Given the description of an element on the screen output the (x, y) to click on. 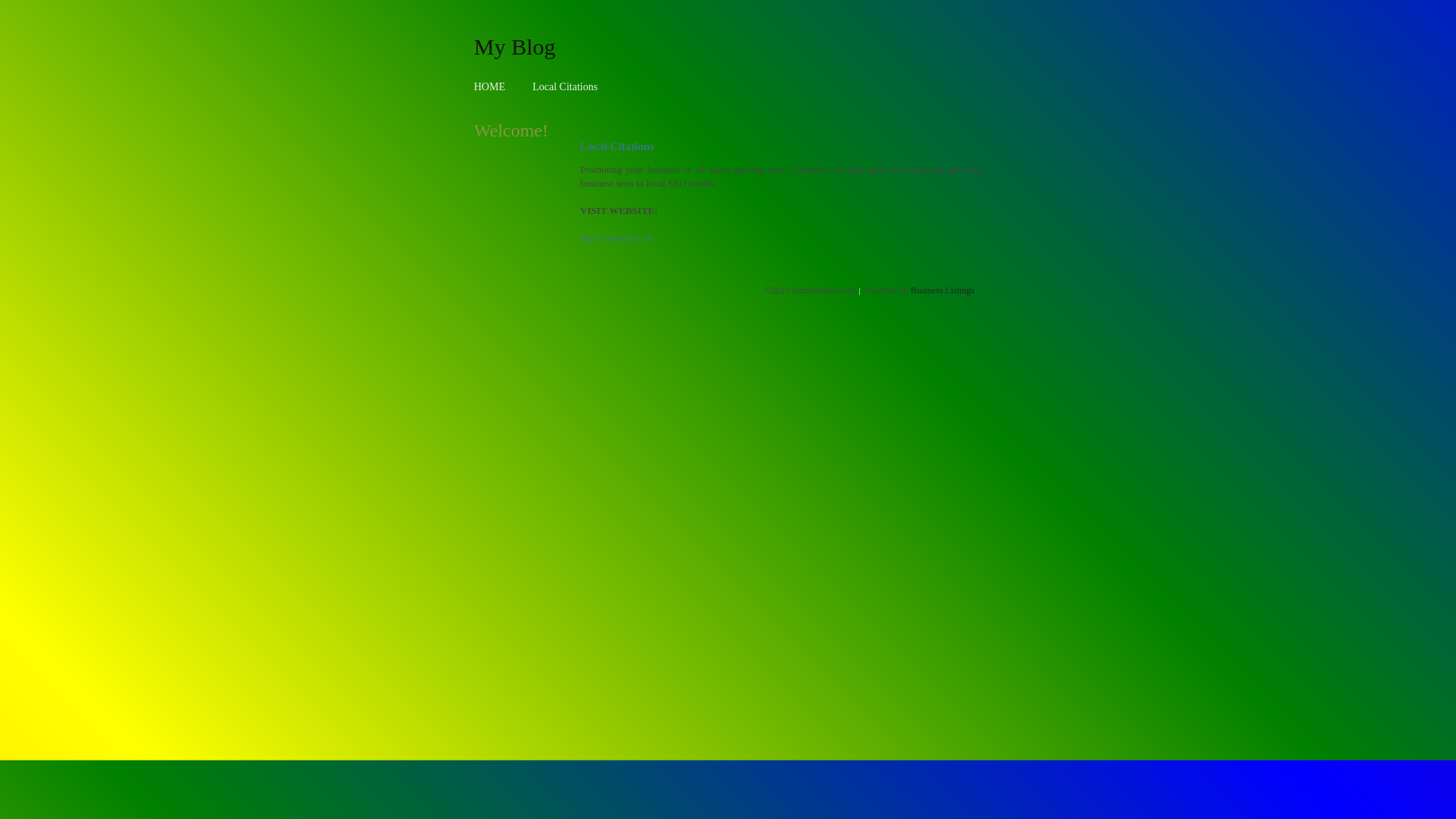
Business Listings Element type: text (942, 290)
https://tote-592.cf/ Element type: text (616, 237)
Local Citations Element type: text (564, 86)
My Blog Element type: text (514, 46)
HOME Element type: text (489, 86)
